Given the description of an element on the screen output the (x, y) to click on. 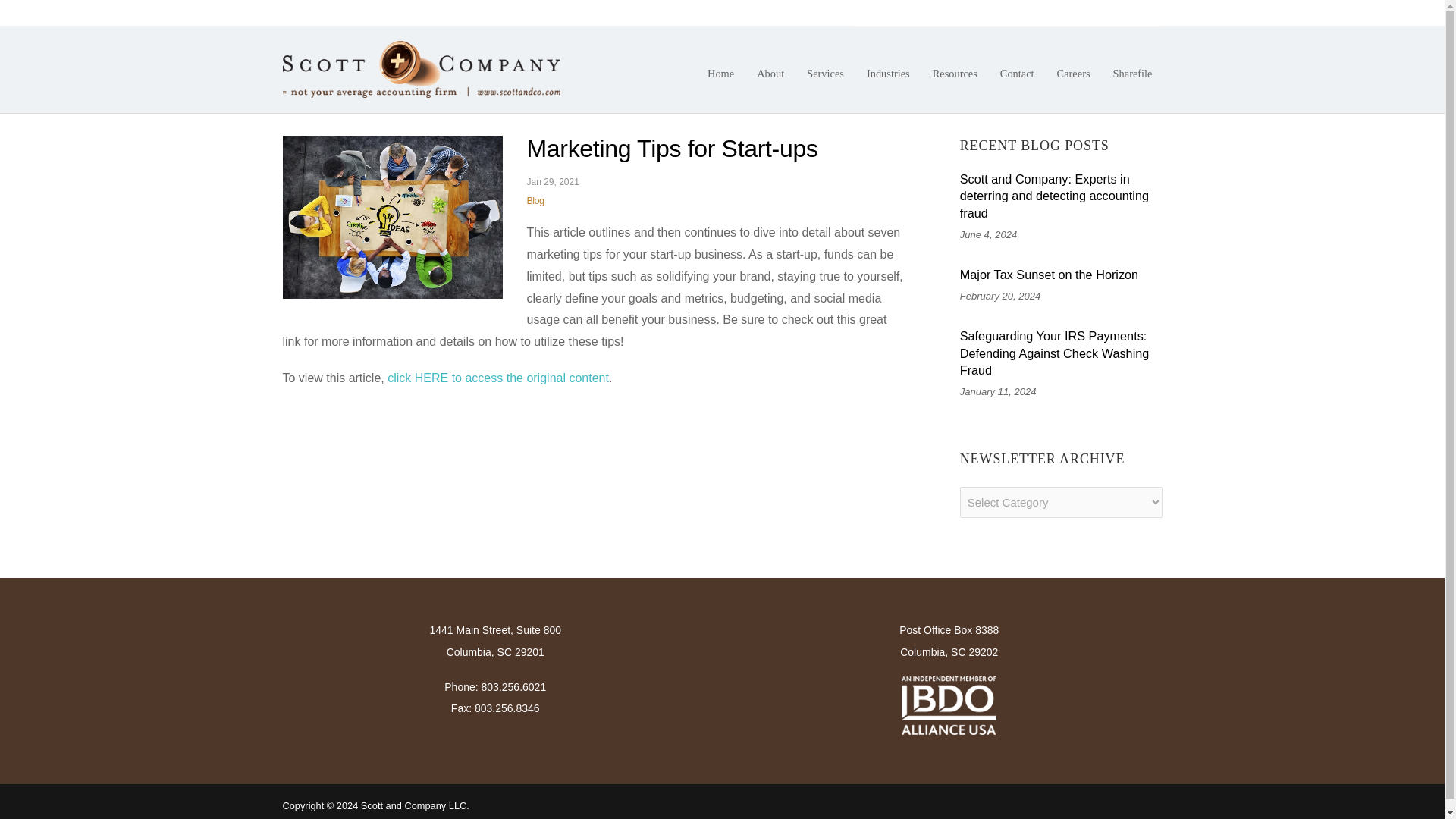
Pay Online (1017, 12)
Receive our Newsletter (1100, 12)
BDO Alliance (948, 705)
